Given the description of an element on the screen output the (x, y) to click on. 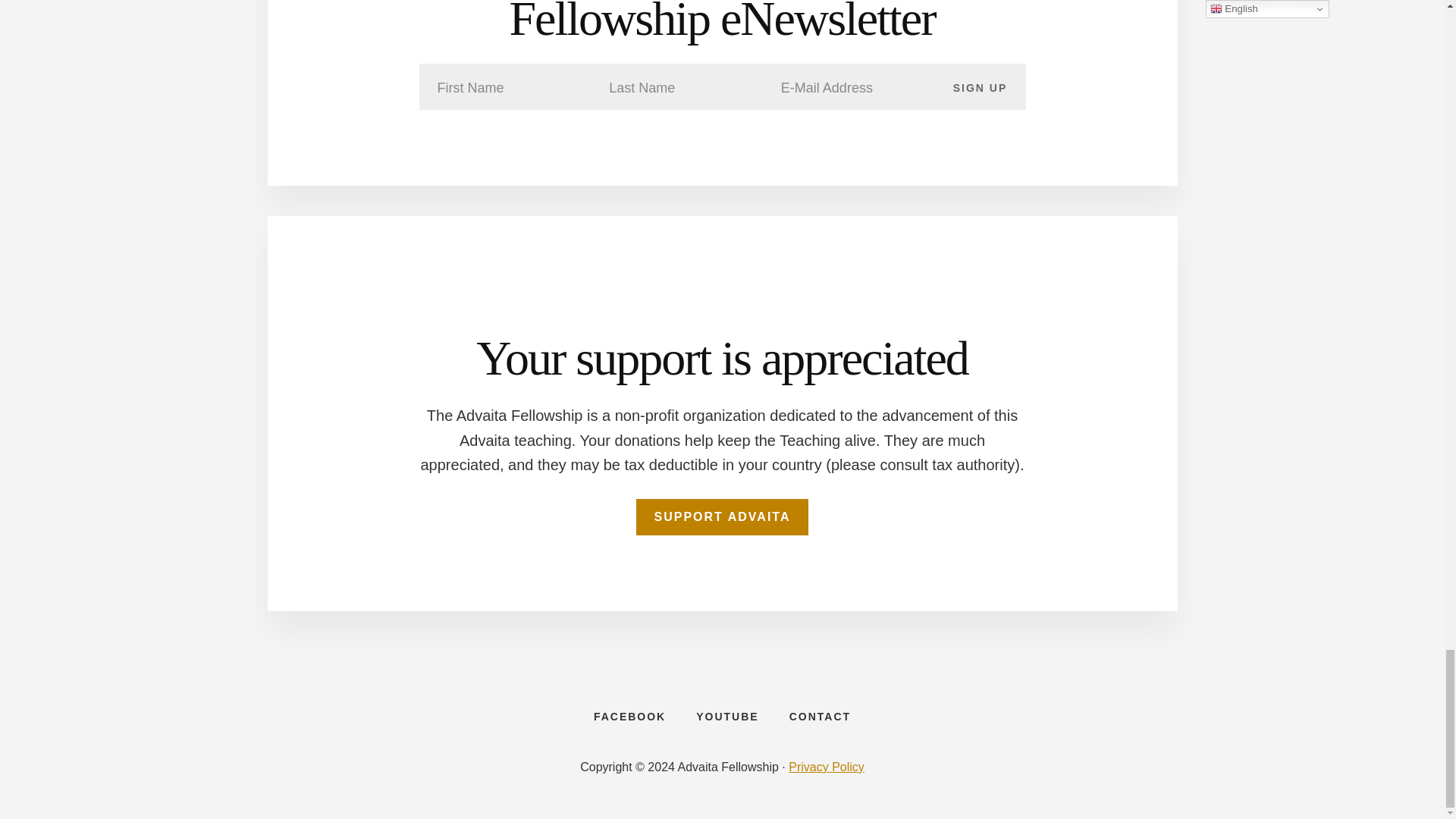
Sign Up (980, 86)
